Given the description of an element on the screen output the (x, y) to click on. 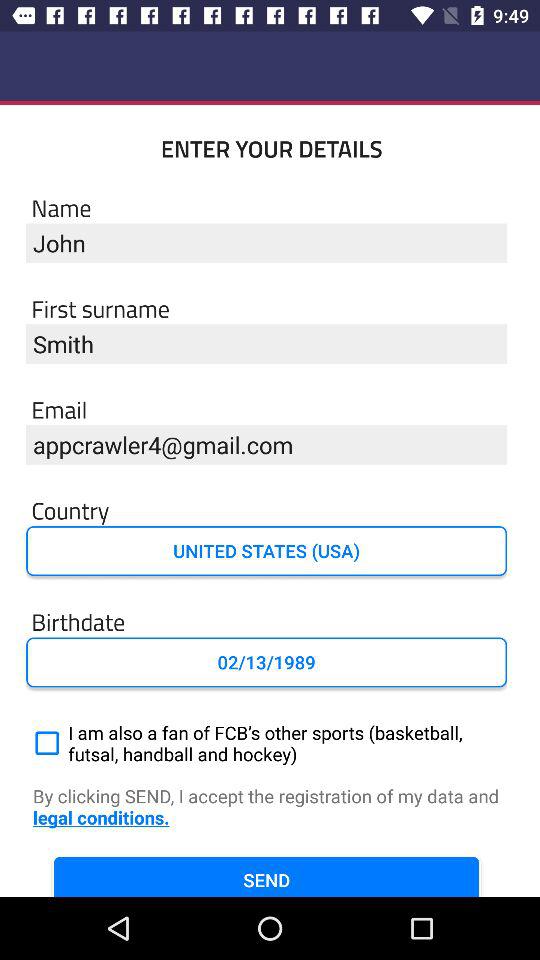
tap i am also item (266, 743)
